Given the description of an element on the screen output the (x, y) to click on. 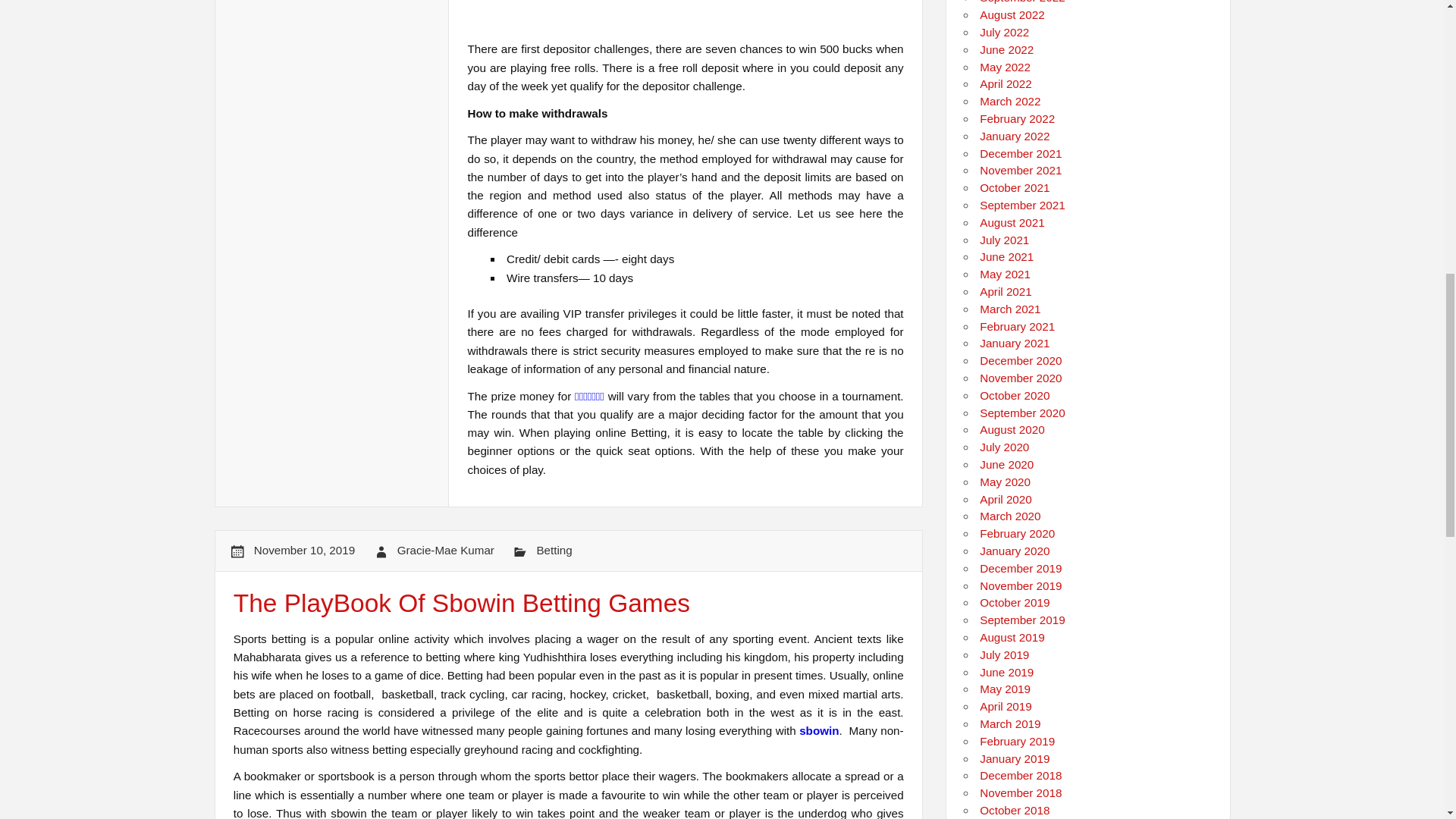
Gracie-Mae Kumar (446, 549)
sbowin (818, 730)
12:09 pm (304, 549)
September 2022 (1021, 2)
November 10, 2019 (304, 549)
The PlayBook Of Sbowin Betting Games (461, 602)
Betting (553, 549)
View all posts by Gracie-Mae Kumar (446, 549)
